Given the description of an element on the screen output the (x, y) to click on. 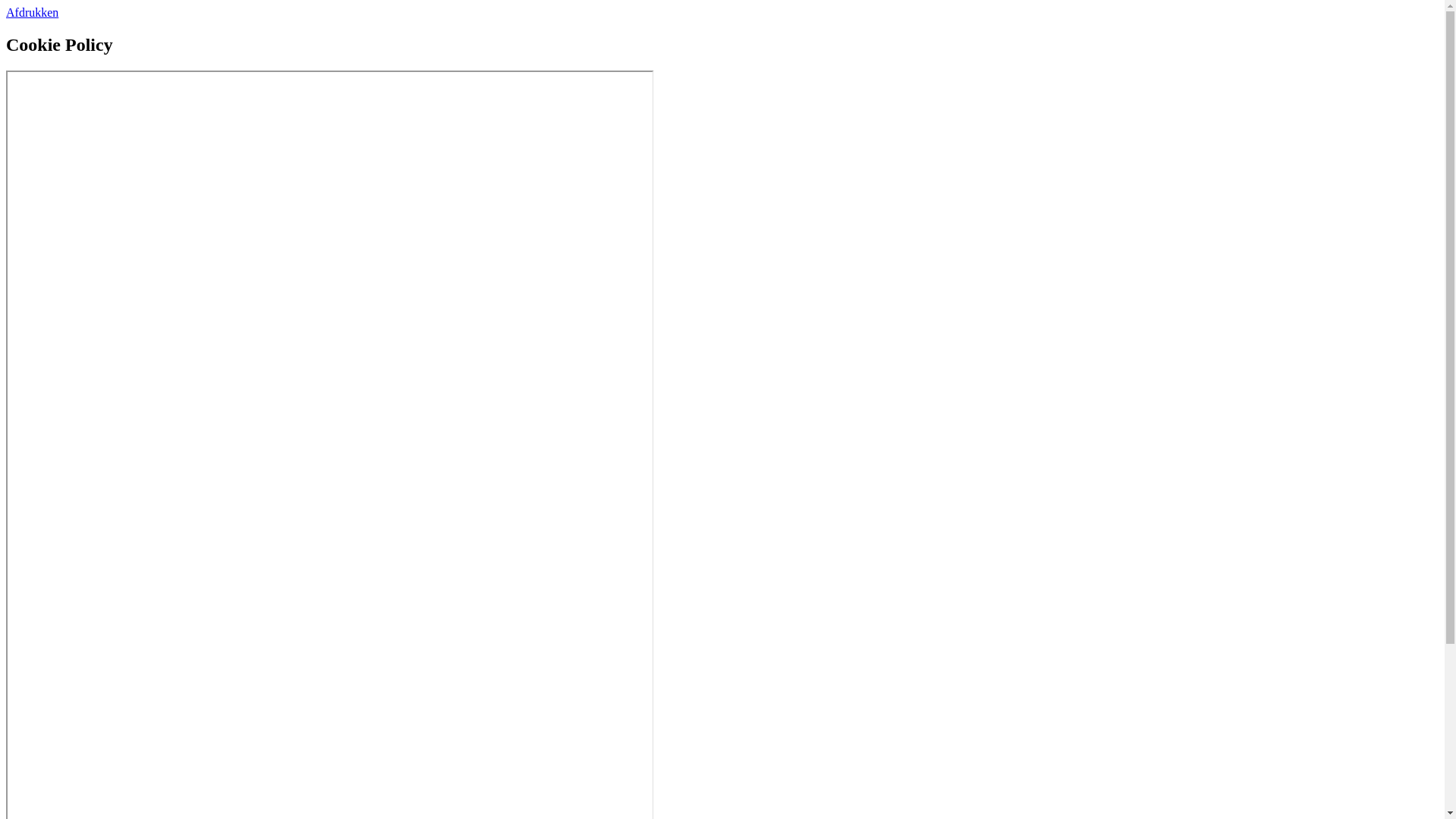
Afdrukken Element type: text (32, 12)
